Given the description of an element on the screen output the (x, y) to click on. 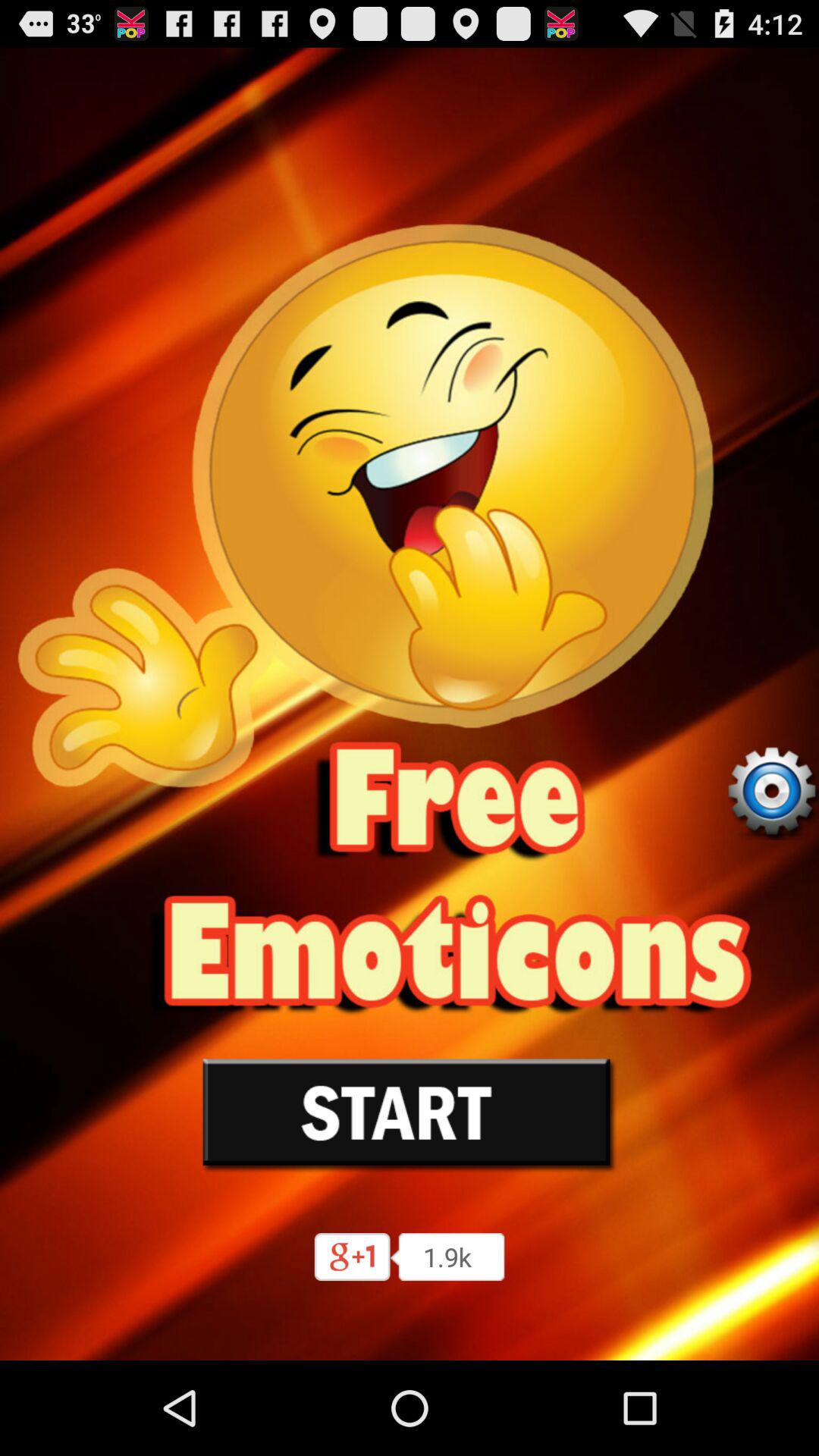
go to settings (771, 792)
